Given the description of an element on the screen output the (x, y) to click on. 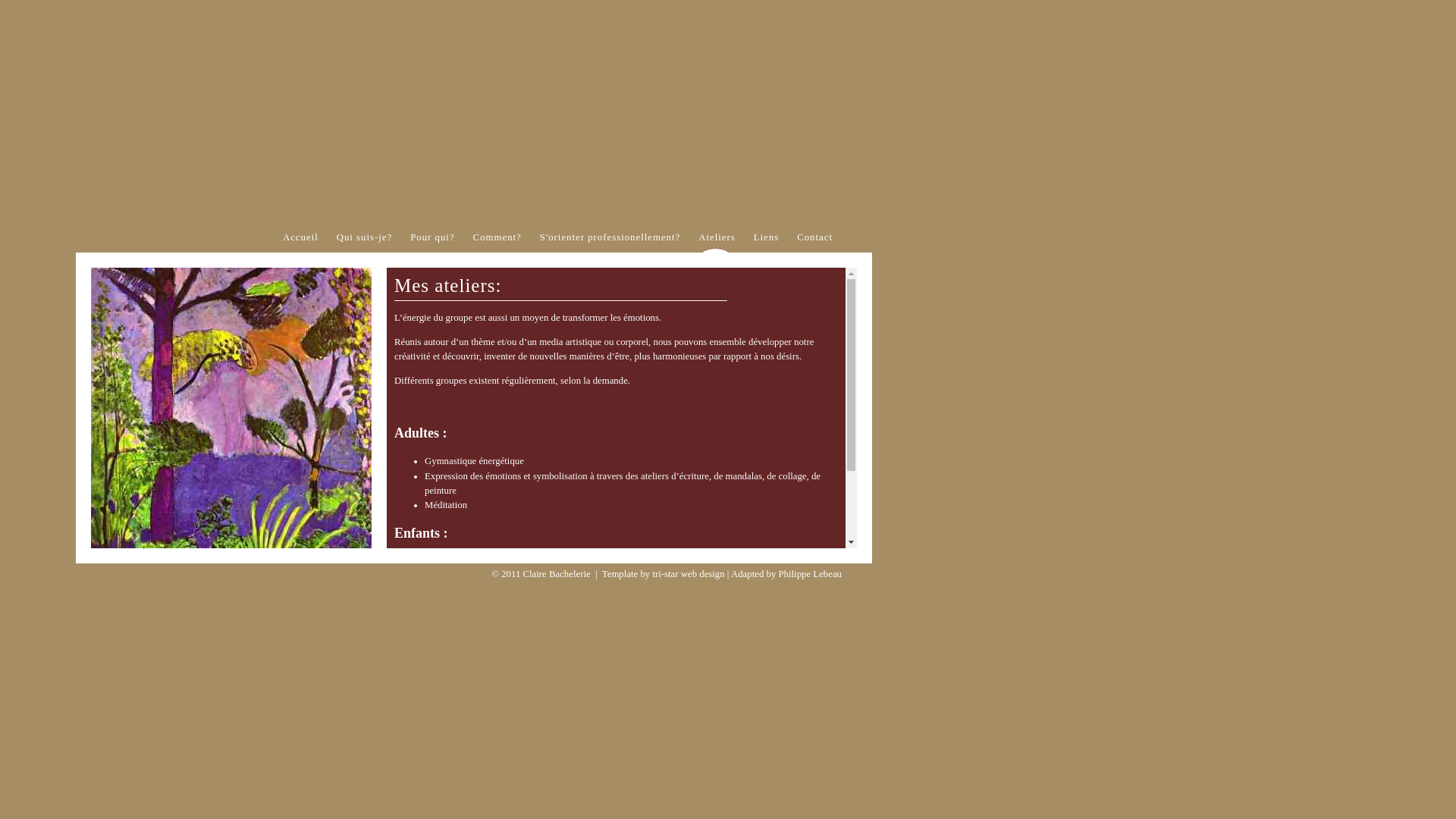
Accueil Element type: text (300, 241)
S'orienter professionellement? Element type: text (609, 241)
Philippe Lebeau Element type: text (809, 573)
Contact Element type: text (814, 241)
Liens Element type: text (765, 241)
Ateliers Element type: text (716, 241)
Pour qui? Element type: text (432, 241)
Comment? Element type: text (497, 241)
Qui suis-je? Element type: text (364, 241)
tri-star web design Element type: text (688, 573)
